Given the description of an element on the screen output the (x, y) to click on. 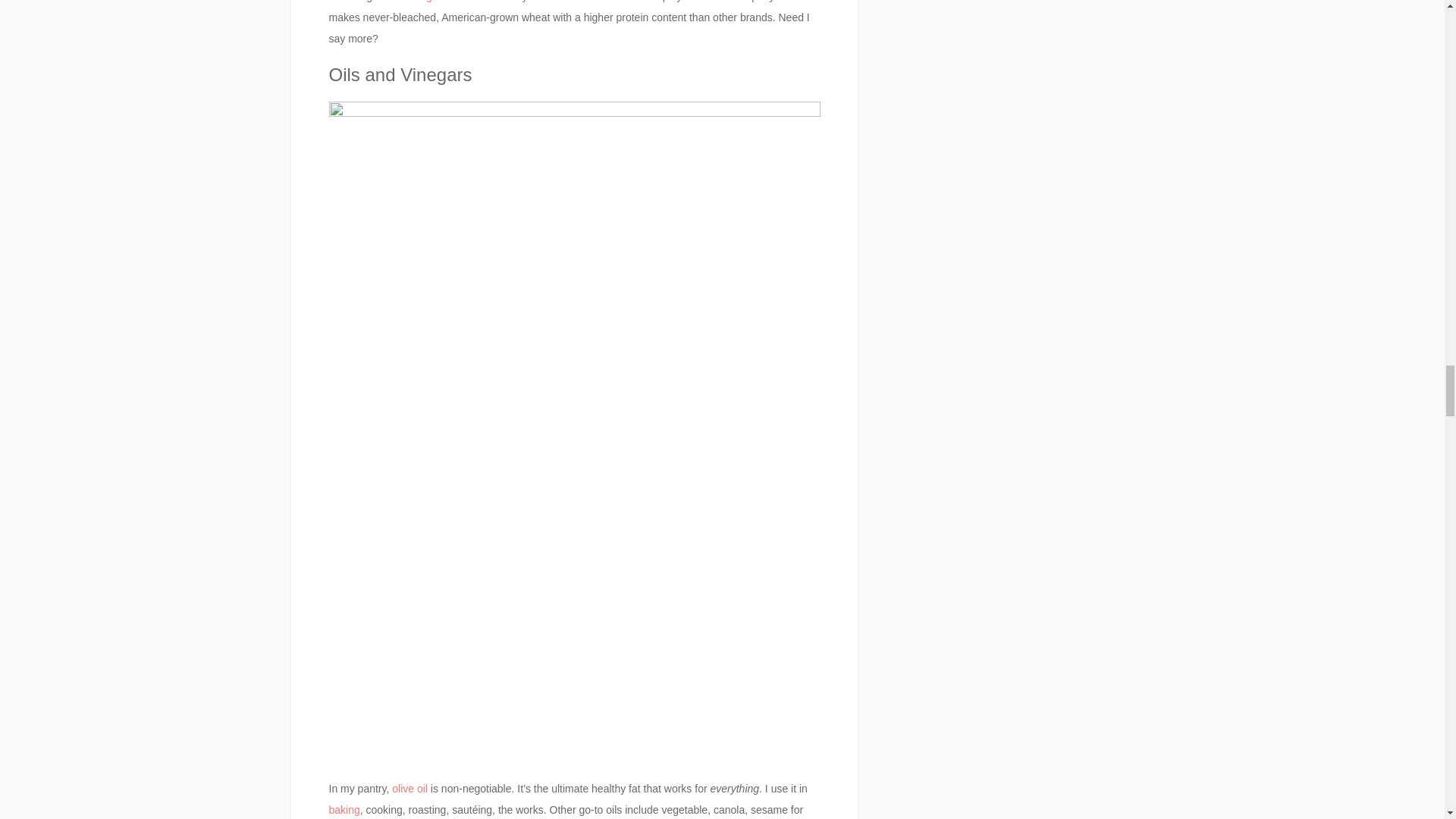
olive oil (409, 788)
King Arthur flour (448, 1)
baking (344, 809)
